Given the description of an element on the screen output the (x, y) to click on. 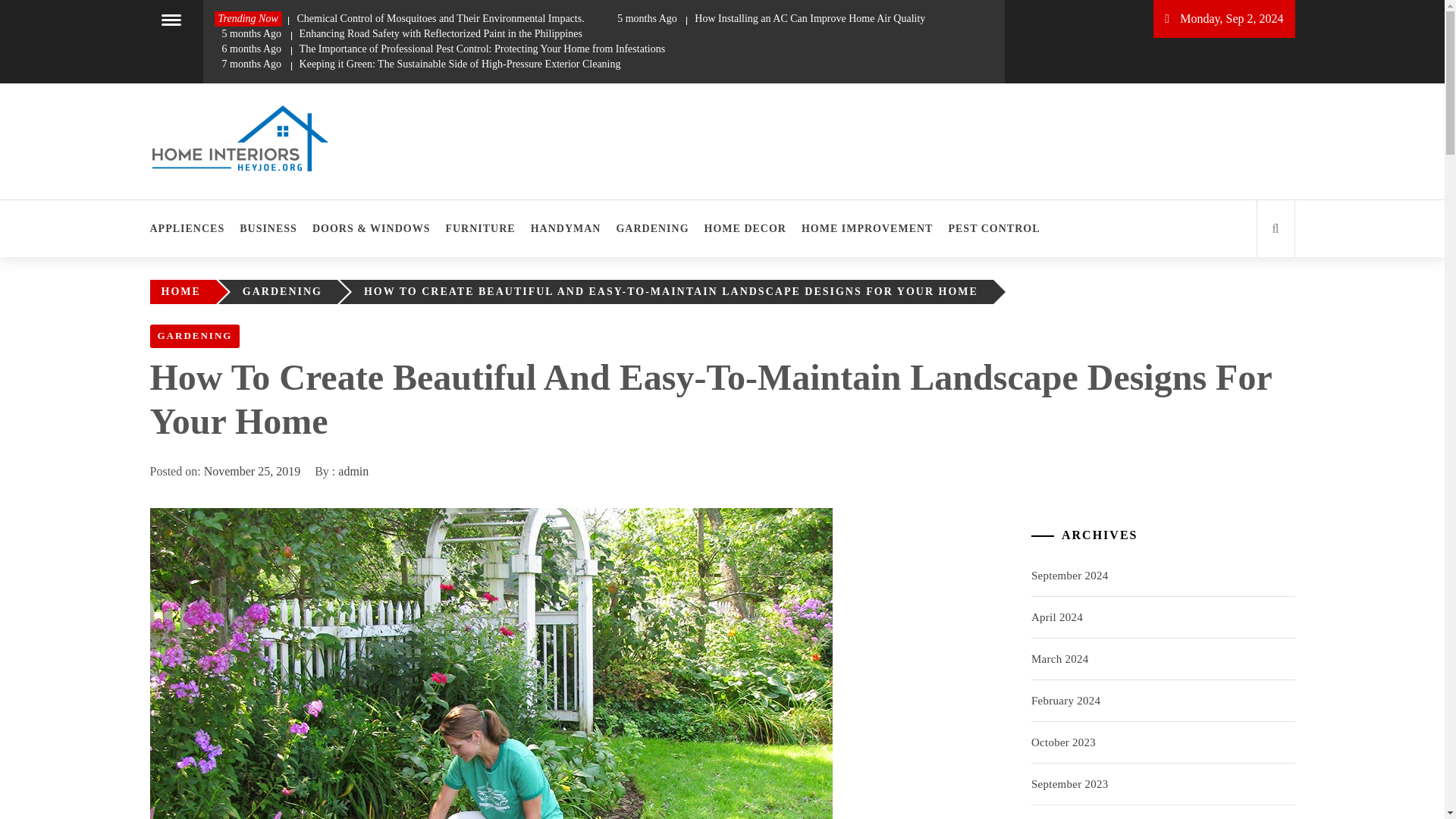
Home Decor (227, 200)
BUSINESS (267, 228)
HOME (184, 291)
FURNITURE (480, 228)
admin (352, 471)
HOME DECOR (745, 228)
Search (797, 37)
Toggle menu (170, 18)
